Given the description of an element on the screen output the (x, y) to click on. 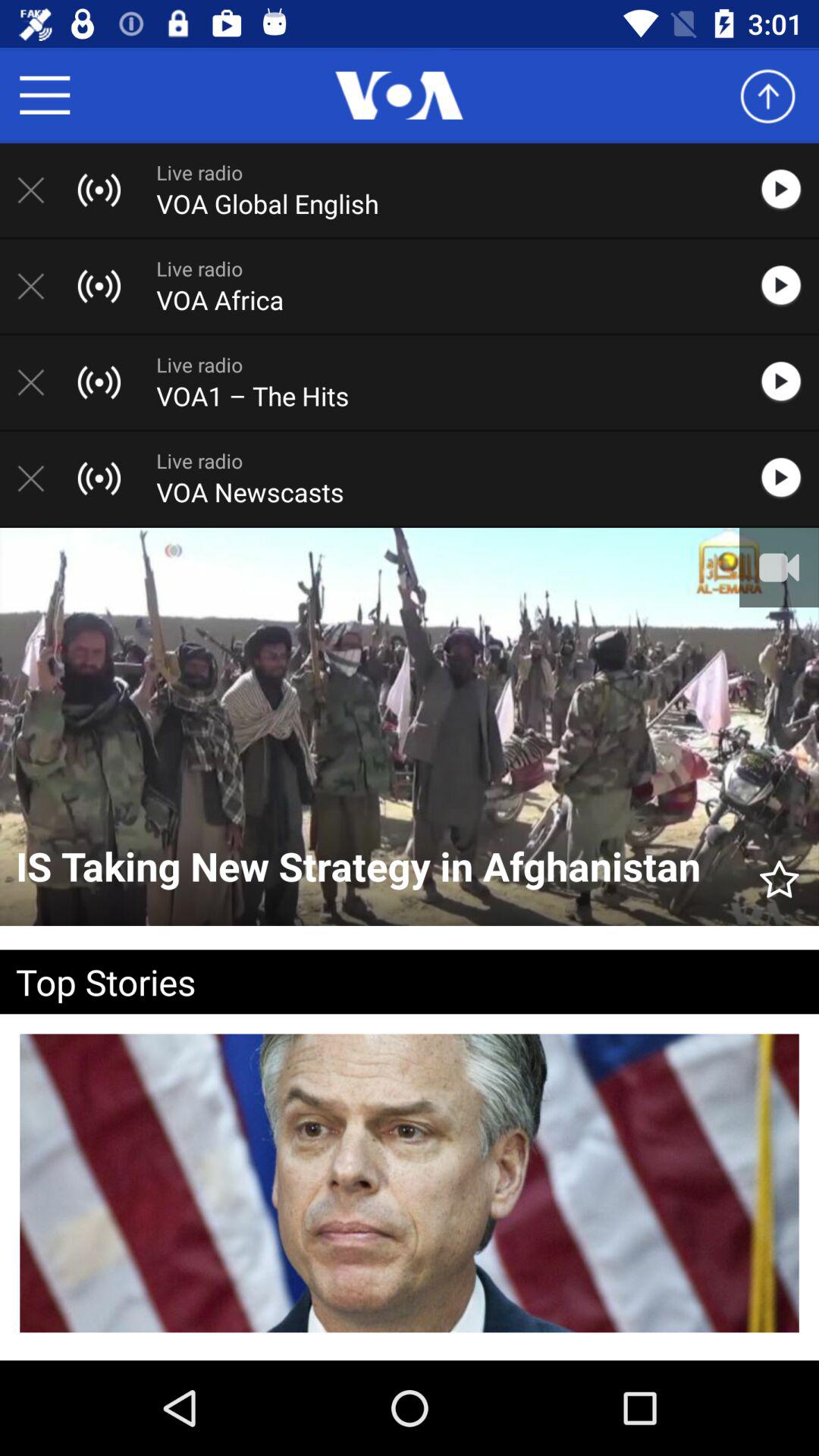
delete (38, 190)
